Given the description of an element on the screen output the (x, y) to click on. 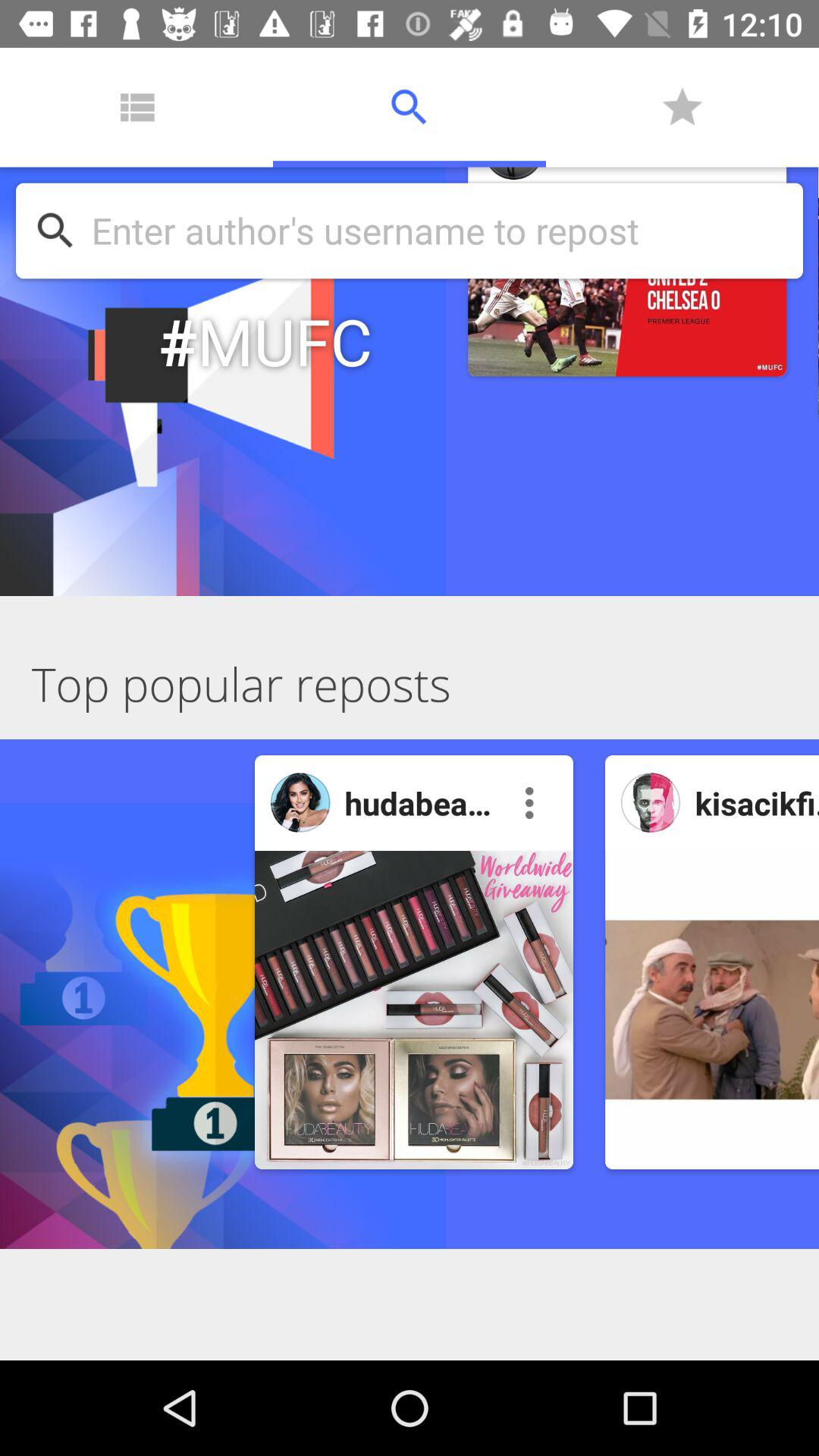
select the repost (712, 1009)
